Given the description of an element on the screen output the (x, y) to click on. 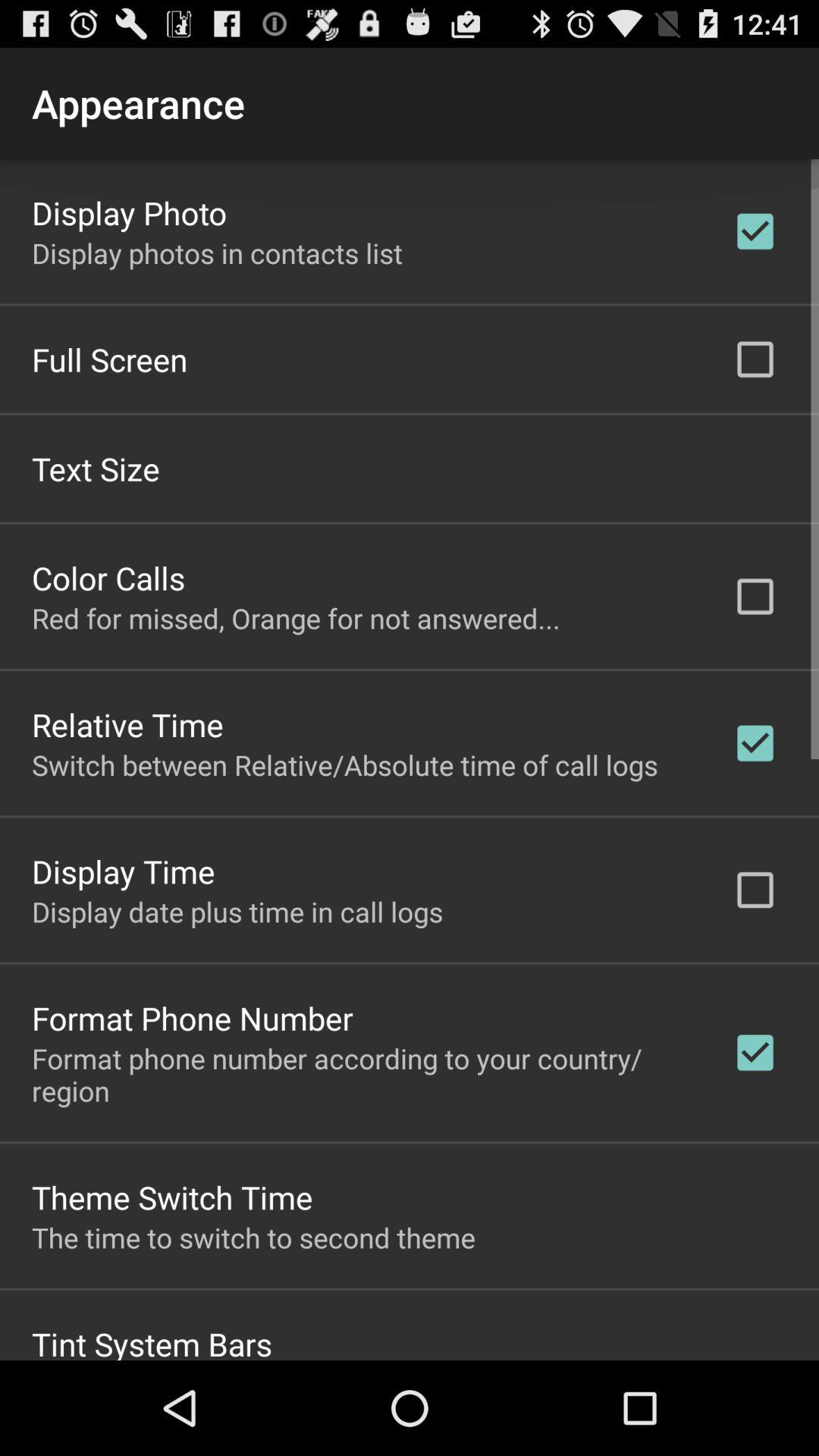
select item below color calls icon (295, 617)
